Given the description of an element on the screen output the (x, y) to click on. 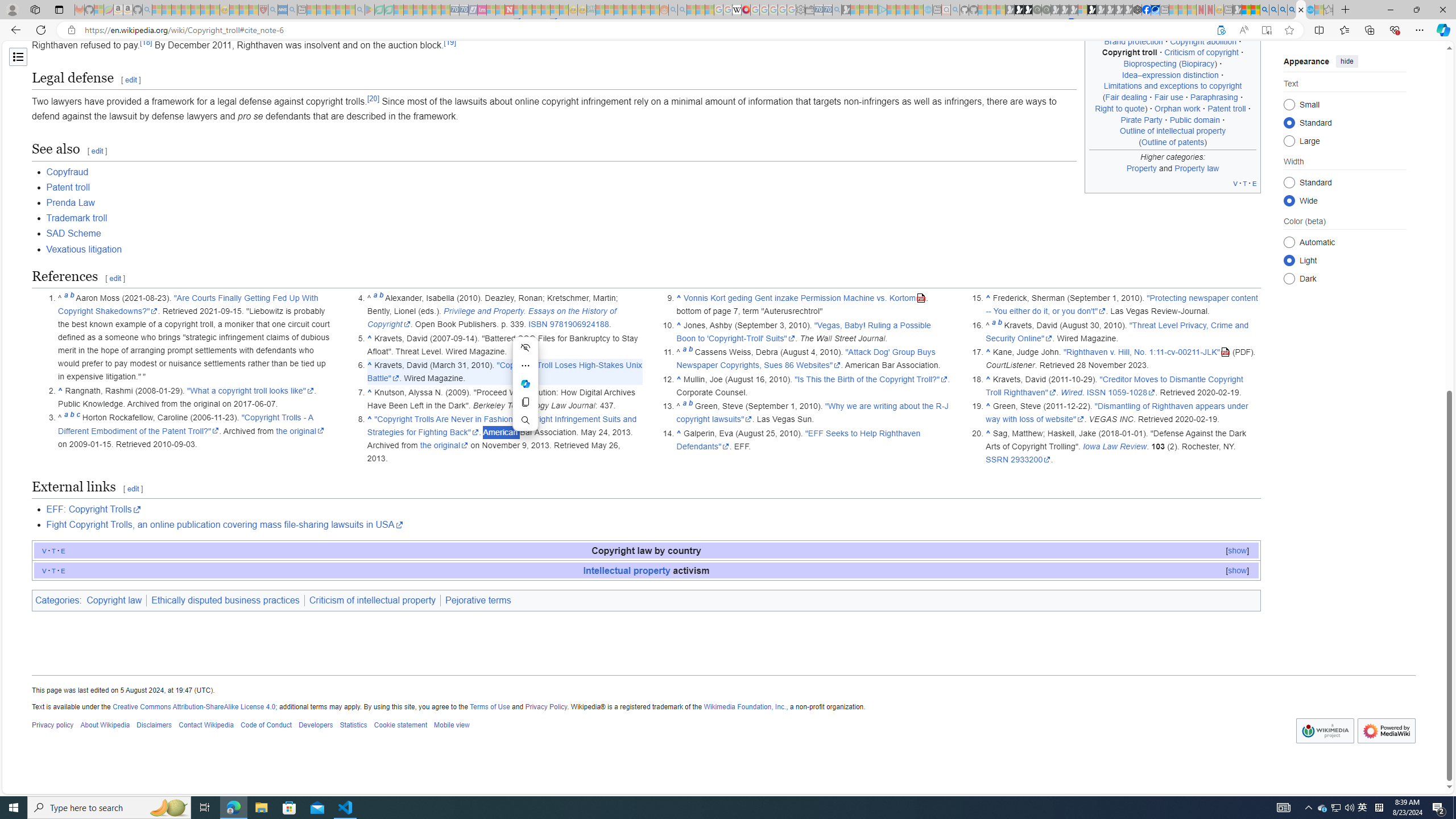
Copyright law (115, 600)
Nordace - Cooler Bags (1137, 9)
Wired (1071, 392)
"Righthaven v. Hill, No. 1:11-cv-00211-JLK" (1146, 352)
"EFF Seeks to Help Righthaven Defendants" (797, 439)
ISBN (537, 324)
"What a copyright troll looks like" (250, 390)
AutomationID: footer-poweredbyico (1385, 730)
